Given the description of an element on the screen output the (x, y) to click on. 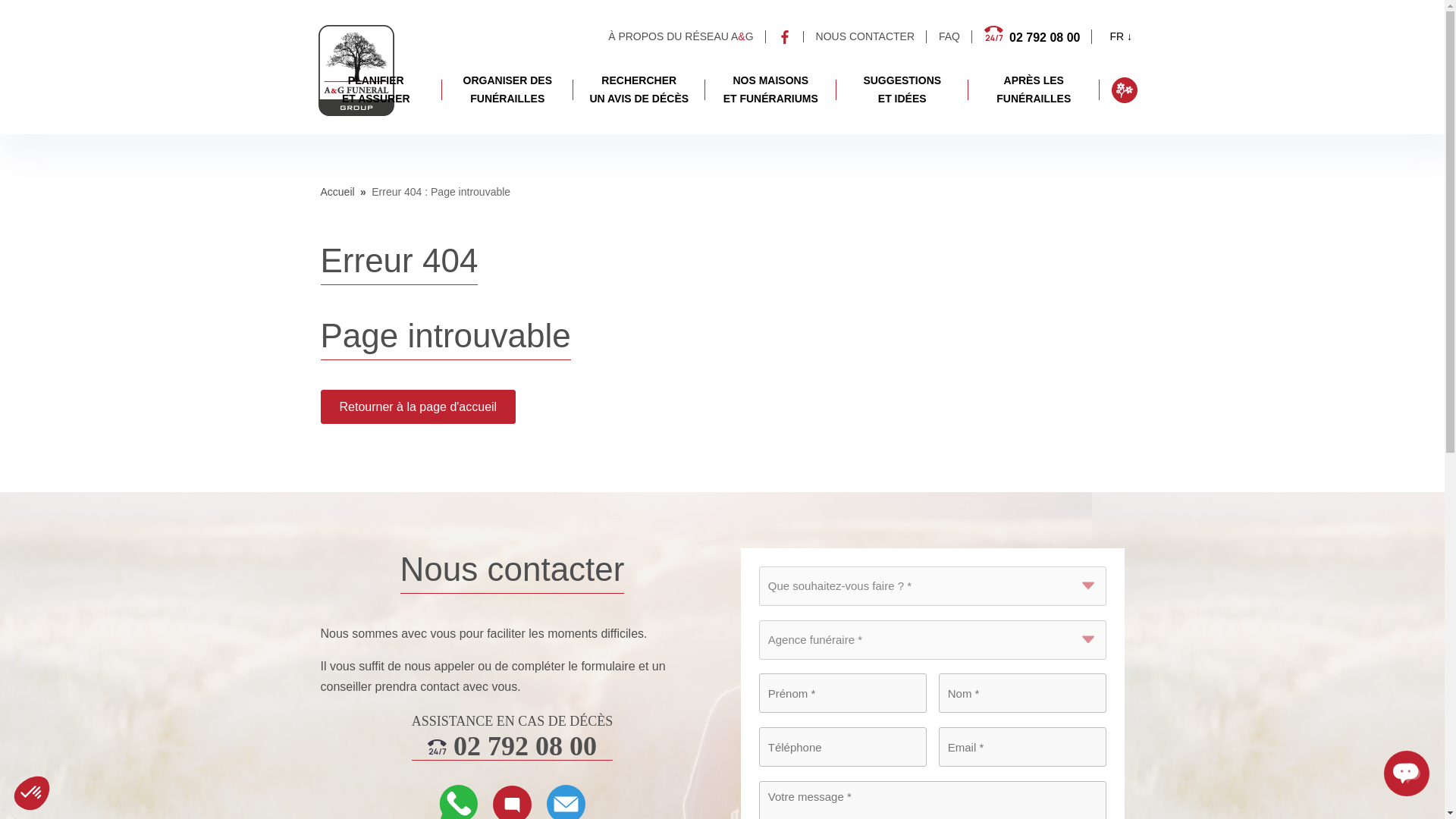
NOUS CONTACTER (864, 37)
Envoyer des fleurs (375, 90)
Accueil (1124, 89)
0 (336, 191)
02 792 08 00 (109, 766)
02 792 08 00 (512, 746)
